Given the description of an element on the screen output the (x, y) to click on. 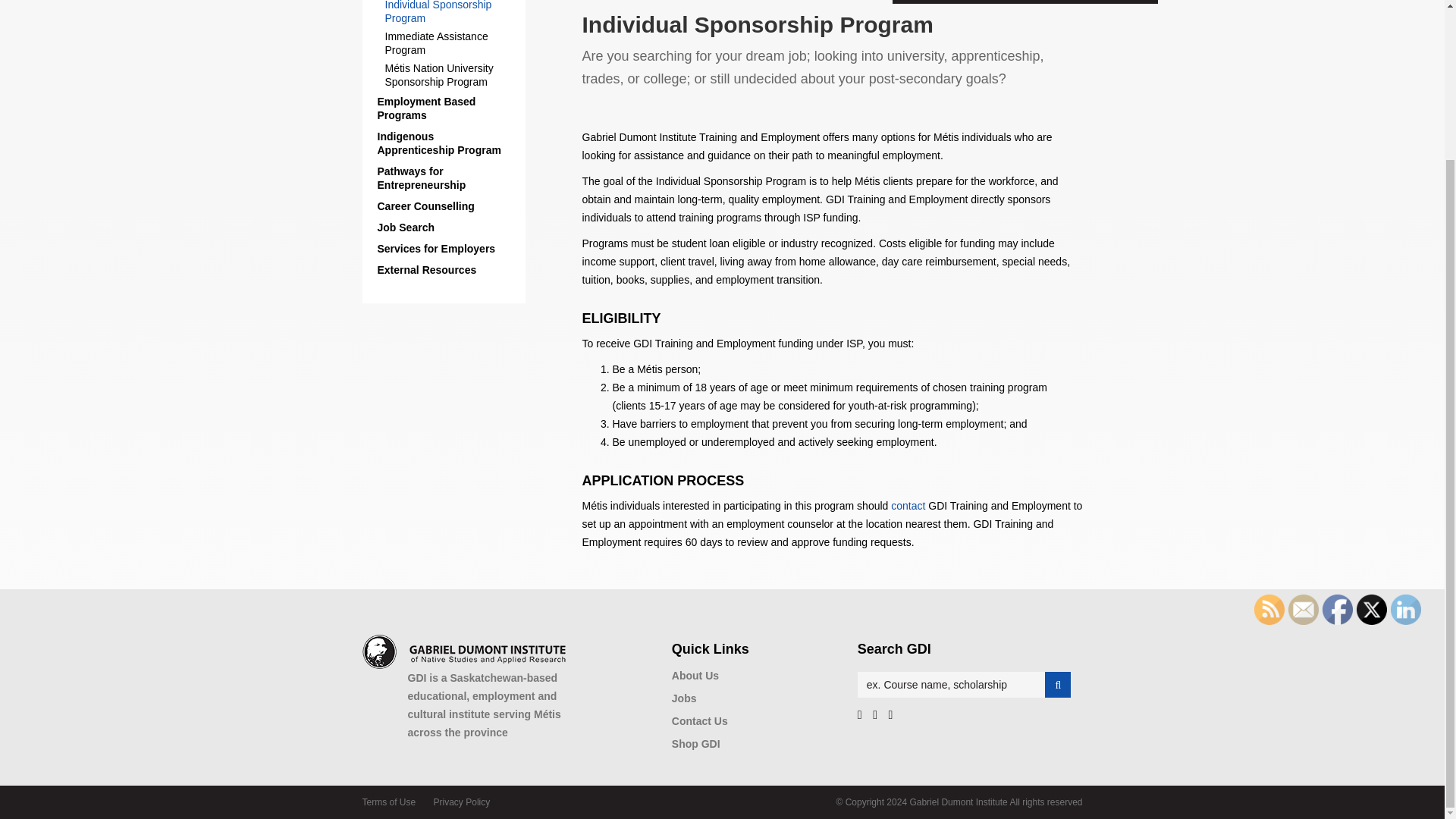
Individual Sponsorship Program (451, 12)
Facebook (1337, 609)
Immediate Assistance Program (451, 42)
RSS (1268, 609)
Pathways for Entrepreneurship (443, 177)
Contact Us (907, 505)
Indigenous Apprenticeship Program (443, 143)
Twitter (1371, 609)
Career Counselling (443, 206)
Employment Based Programs (443, 108)
